Given the description of an element on the screen output the (x, y) to click on. 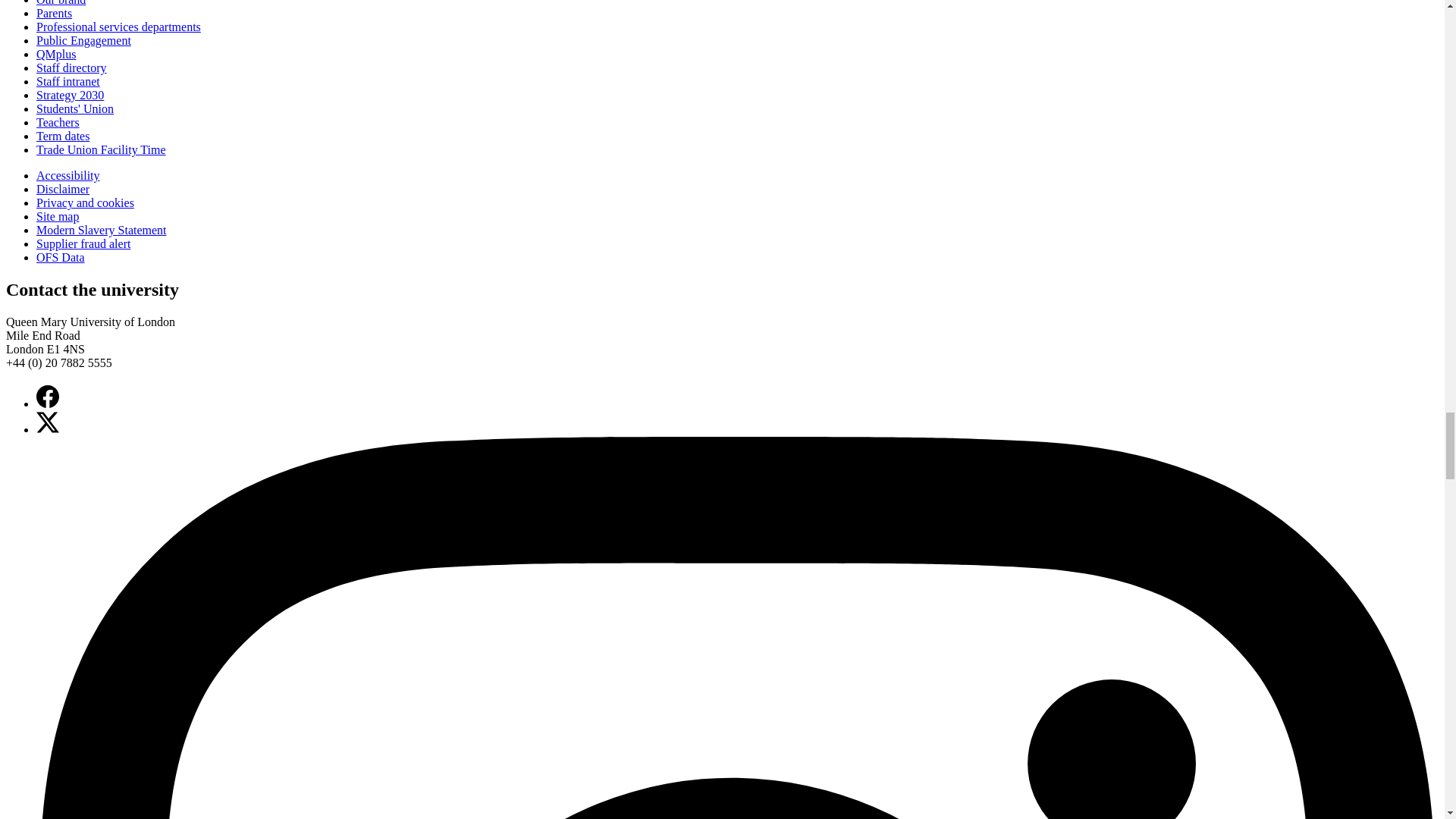
Facebook (47, 395)
Twitter X (47, 422)
